Given the description of an element on the screen output the (x, y) to click on. 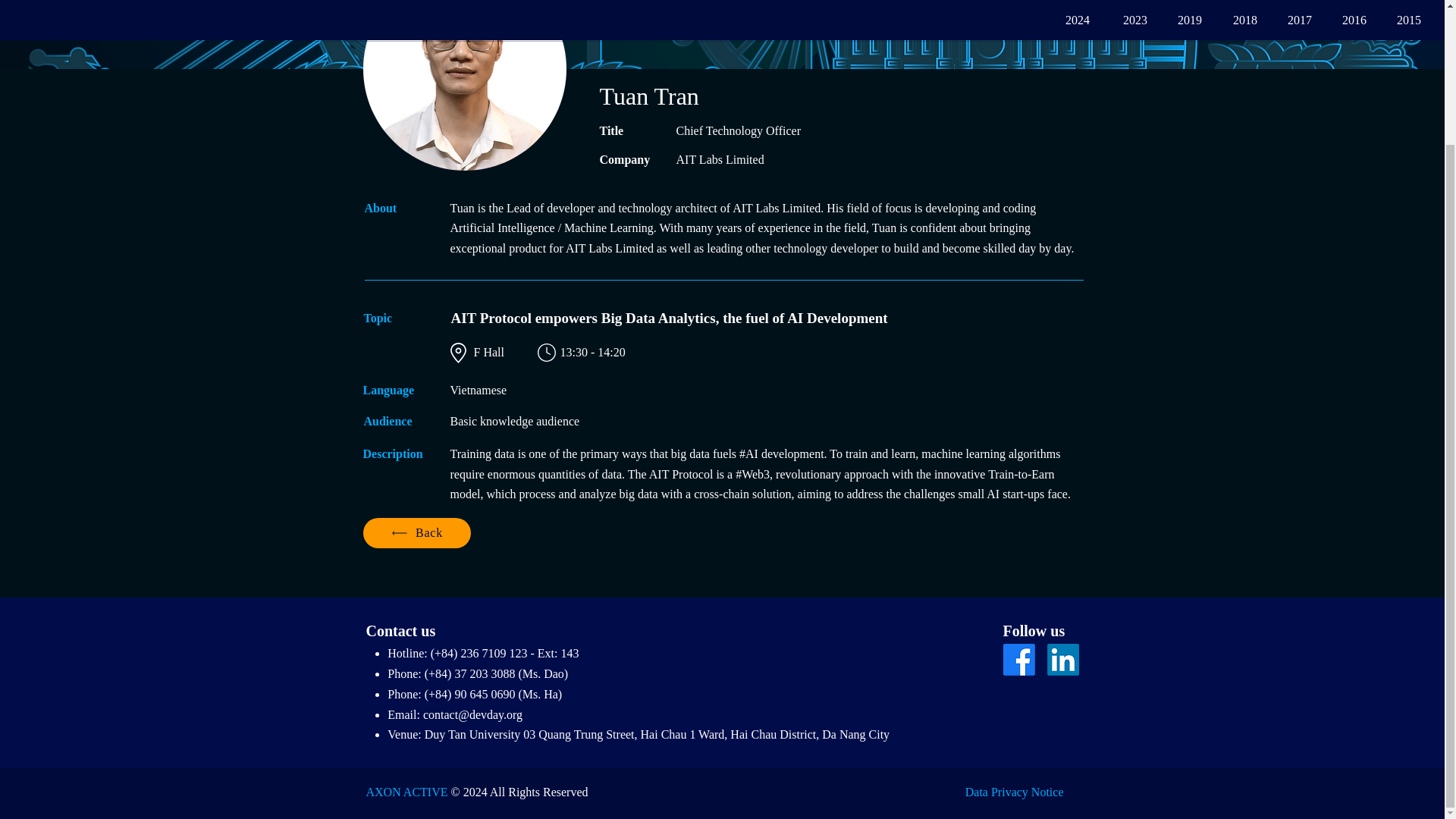
Tuan Tran (464, 85)
Data Privacy Notice (1014, 791)
AXON ACTIVE (405, 791)
Back (416, 532)
